Given the description of an element on the screen output the (x, y) to click on. 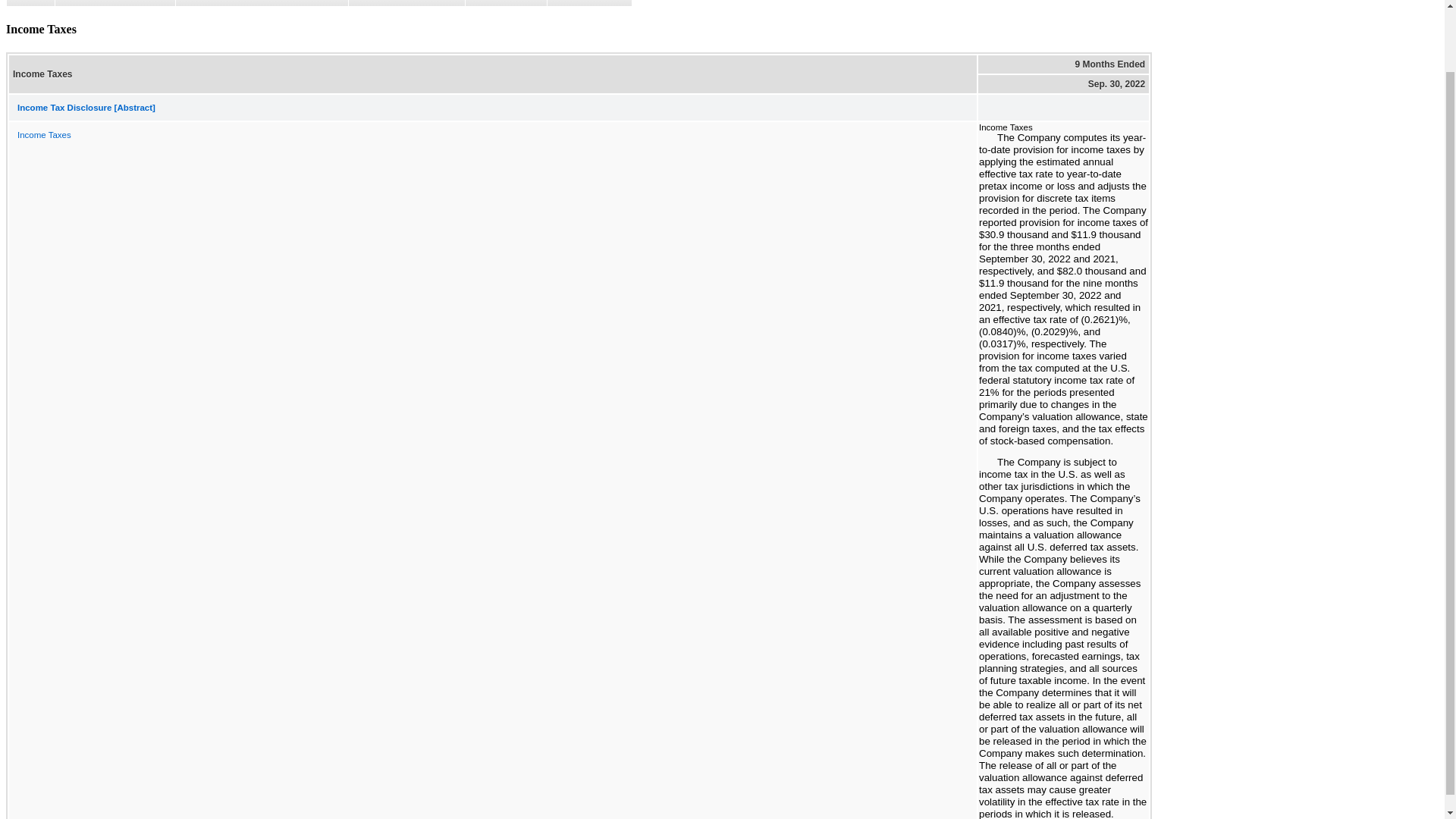
Cover (30, 2)
Notes Details (589, 2)
Financial Statements (114, 2)
Accounting Policies (405, 2)
Notes to Financial Statements (260, 2)
Notes Tables (505, 2)
